Given the description of an element on the screen output the (x, y) to click on. 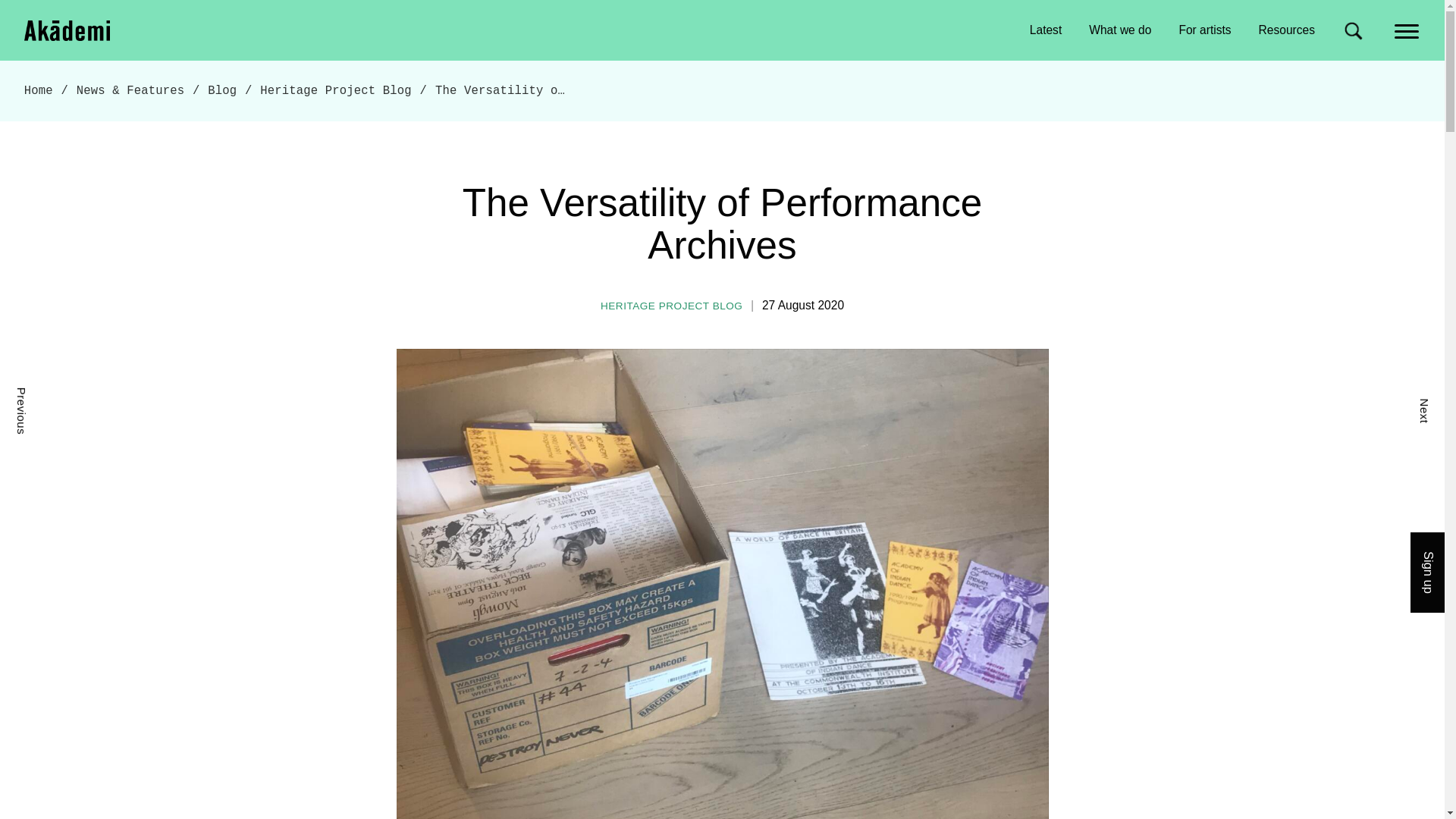
For artists (1204, 30)
Go (53, 8)
Akademi (68, 29)
Latest (1045, 30)
What we do (1119, 30)
Resources (1285, 30)
